Given the description of an element on the screen output the (x, y) to click on. 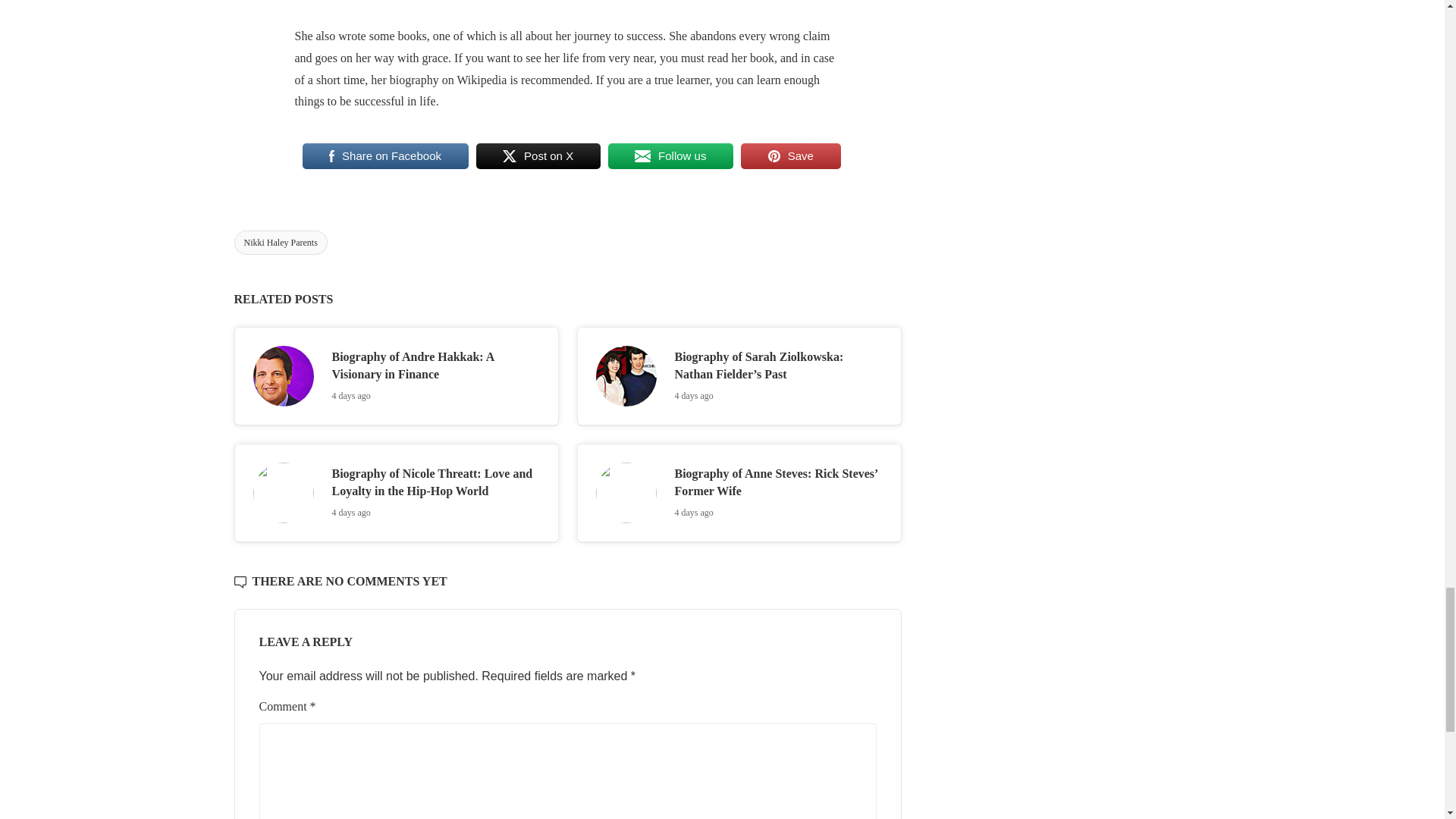
Follow us (670, 155)
8 August 2024 (694, 511)
Save (790, 155)
8 August 2024 (351, 511)
8 August 2024 (351, 395)
Nikki Haley Parents (279, 242)
Post on X (537, 155)
Share on Facebook (384, 155)
8 August 2024 (694, 395)
